Given the description of an element on the screen output the (x, y) to click on. 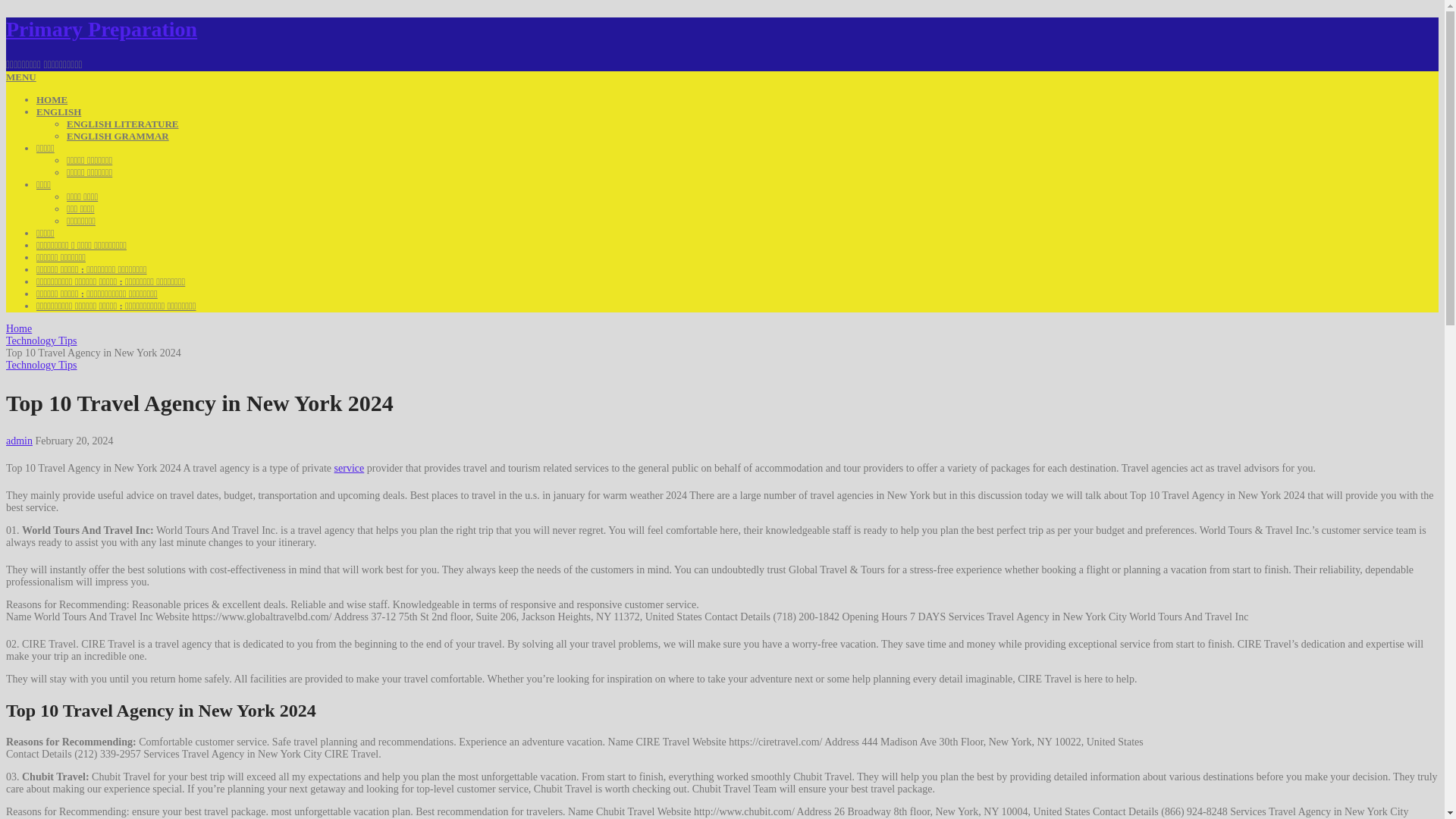
HOME (51, 99)
Primary Preparation (100, 28)
MENU (20, 76)
Technology Tips (41, 340)
Home (18, 328)
Posts by admin (18, 440)
View all posts in Technology Tips (41, 365)
service (349, 468)
ENGLISH GRAMMAR (117, 135)
admin (18, 440)
